Given the description of an element on the screen output the (x, y) to click on. 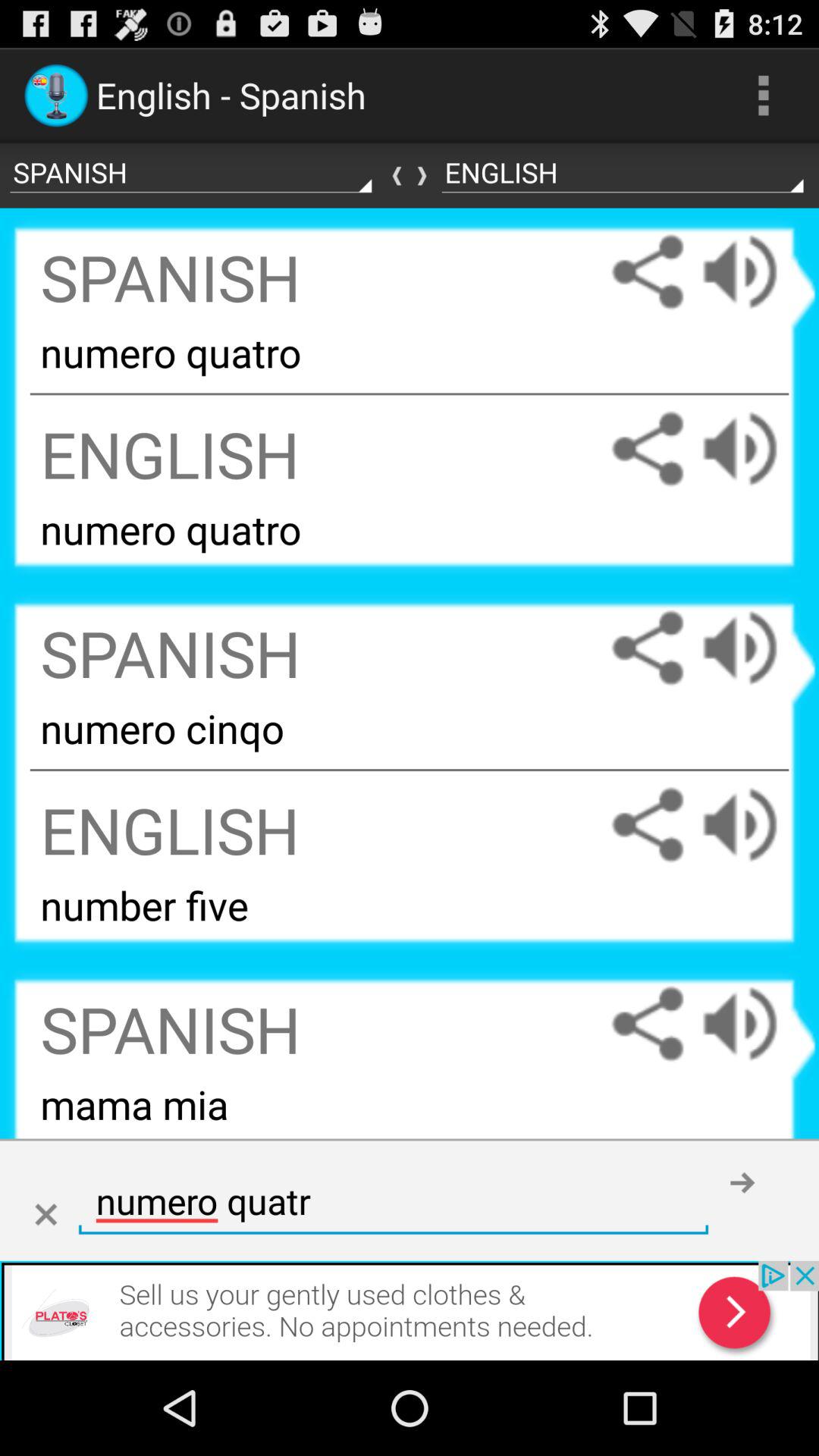
select the share simple (647, 824)
